Given the description of an element on the screen output the (x, y) to click on. 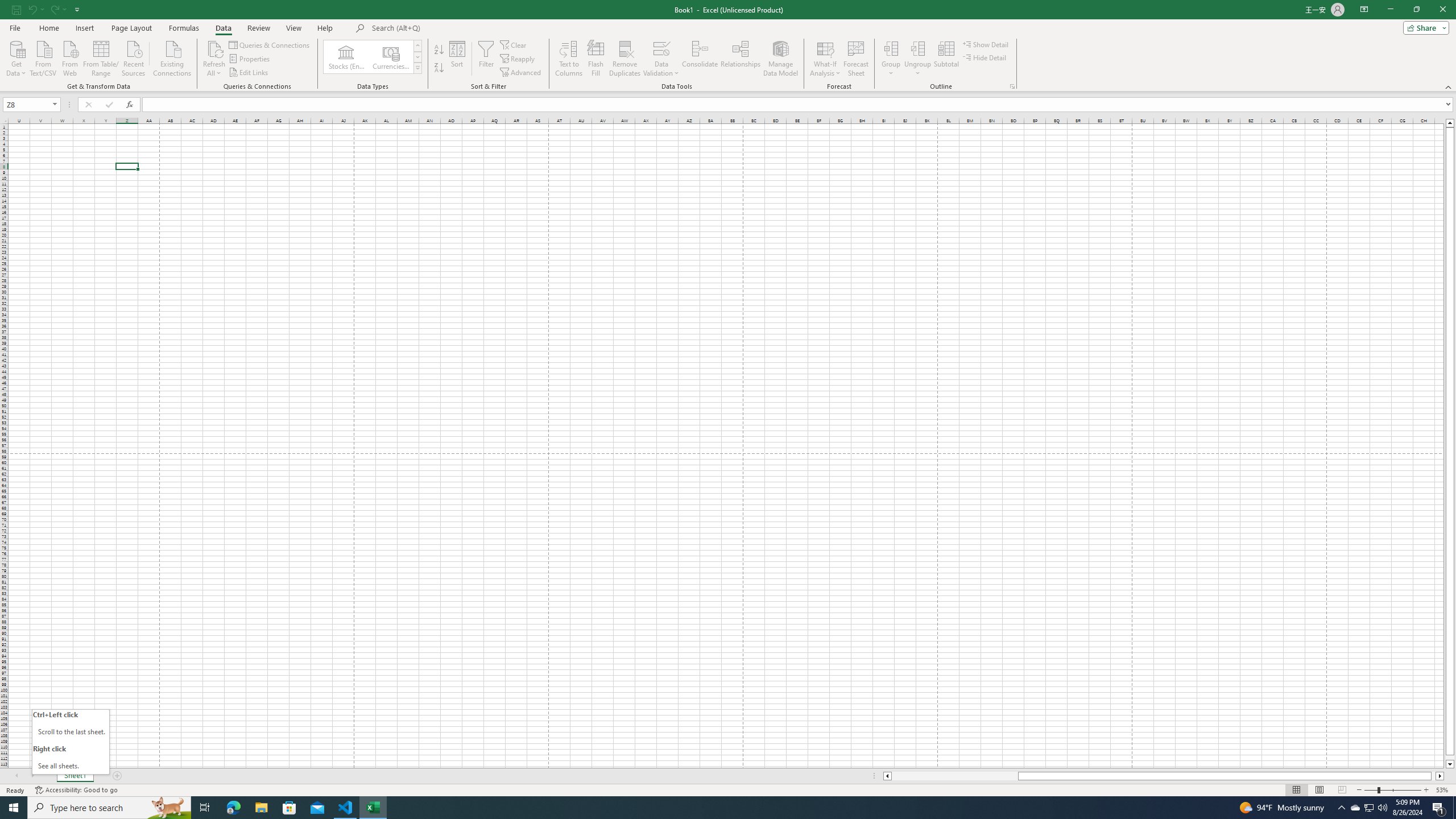
Properties (250, 58)
Row Down (417, 56)
Relationships (740, 58)
